Given the description of an element on the screen output the (x, y) to click on. 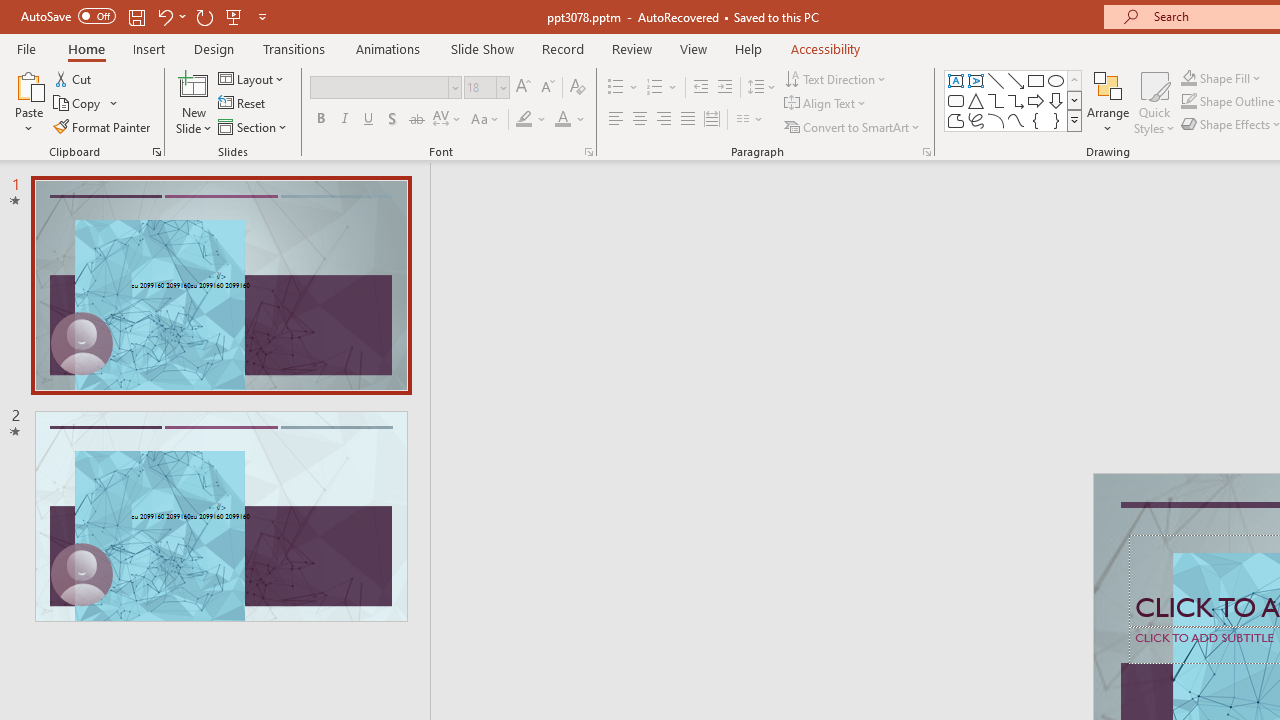
Font Color Red (562, 119)
Reset (243, 103)
Shadow (392, 119)
Text Box (955, 80)
Line Spacing (762, 87)
Paragraph... (926, 151)
Left Brace (1035, 120)
Right Brace (1055, 120)
Layout (252, 78)
